Given the description of an element on the screen output the (x, y) to click on. 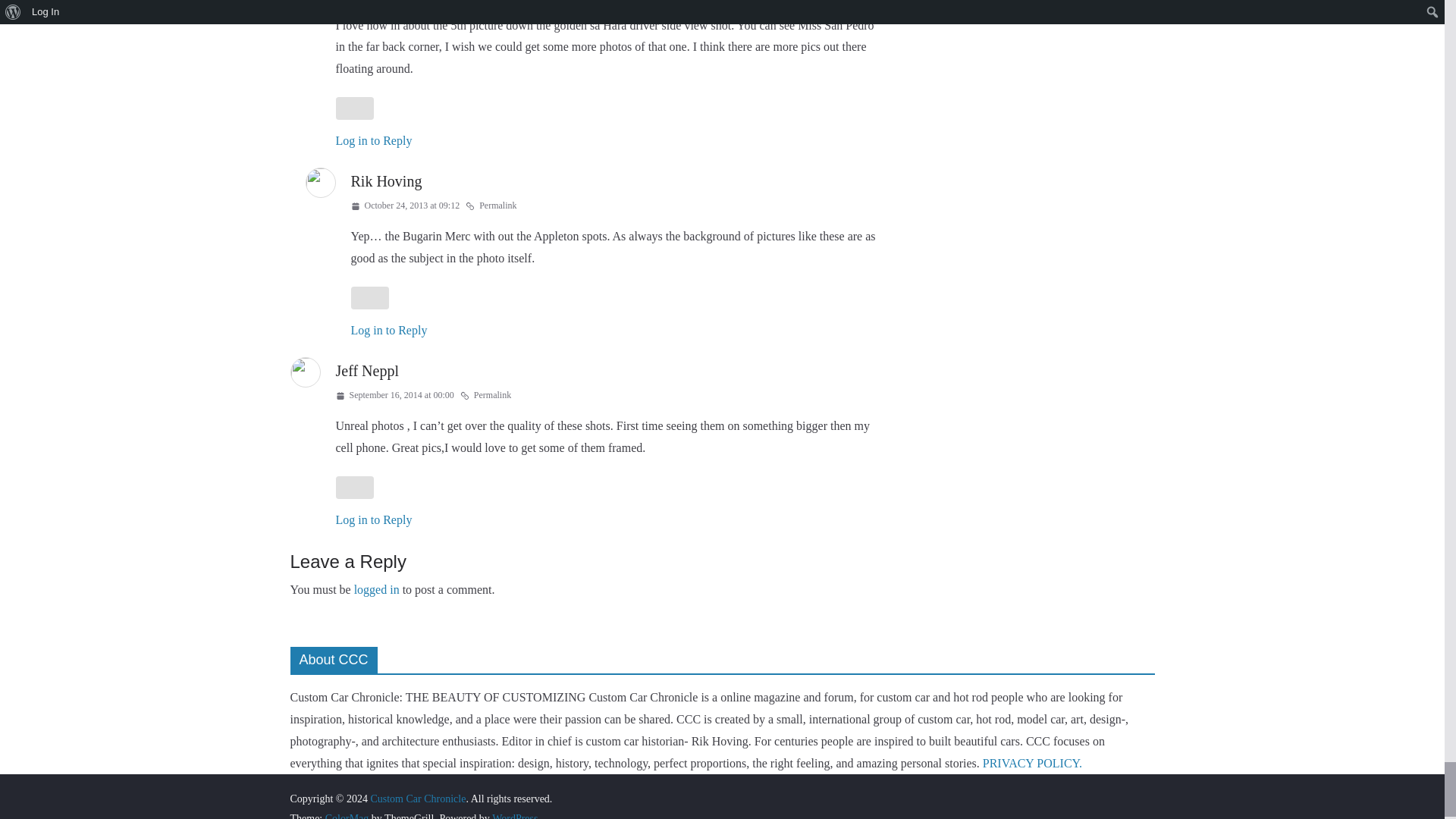
Custom Car Chronicle (417, 798)
